Given the description of an element on the screen output the (x, y) to click on. 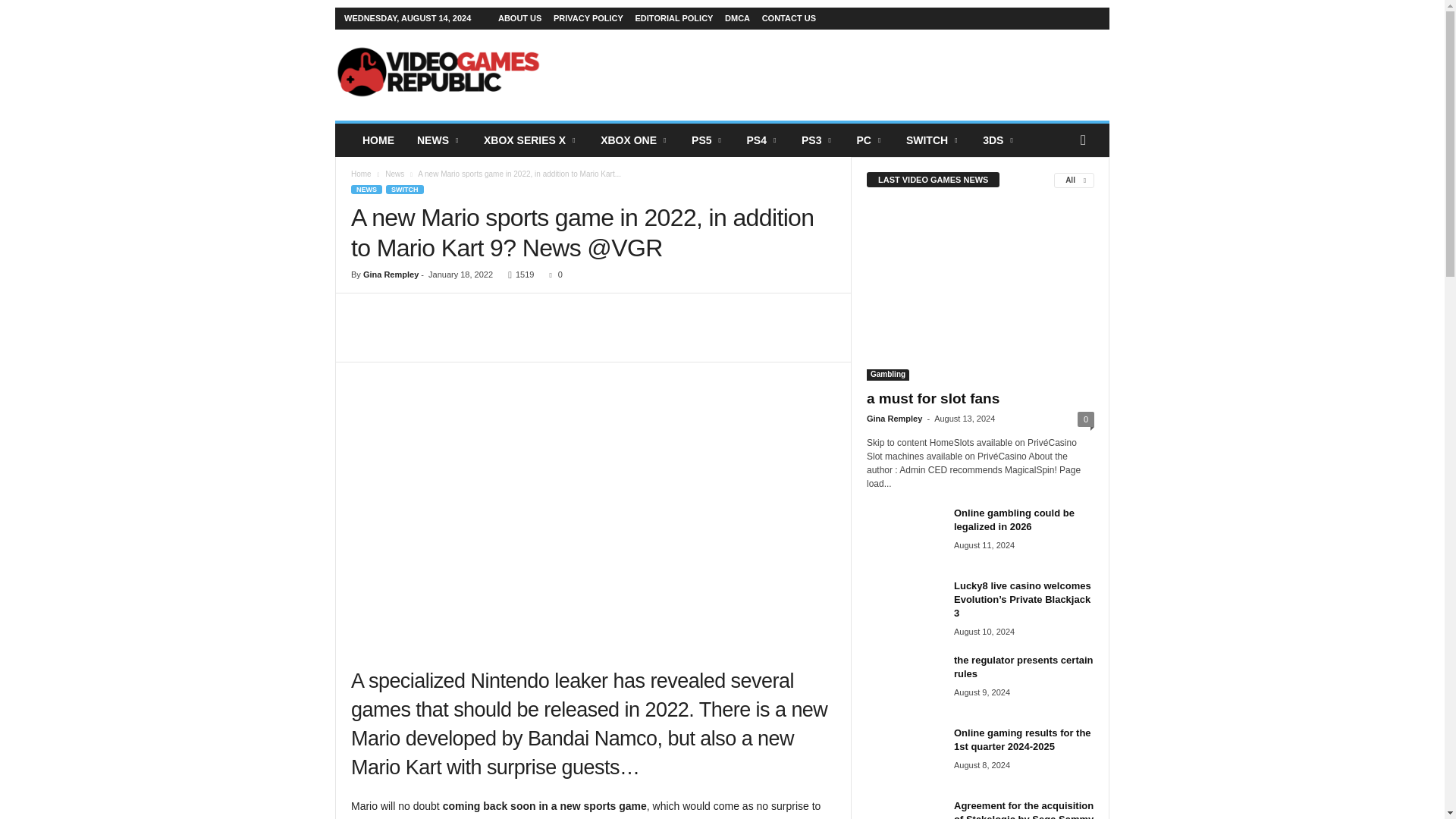
CONTACT US (788, 17)
HOME (378, 140)
VideoGamesRepublic.com (437, 70)
EDITORIAL POLICY (673, 17)
ABOUT US (519, 17)
DMCA (737, 17)
PRIVACY POLICY (588, 17)
NEWS (438, 140)
